Given the description of an element on the screen output the (x, y) to click on. 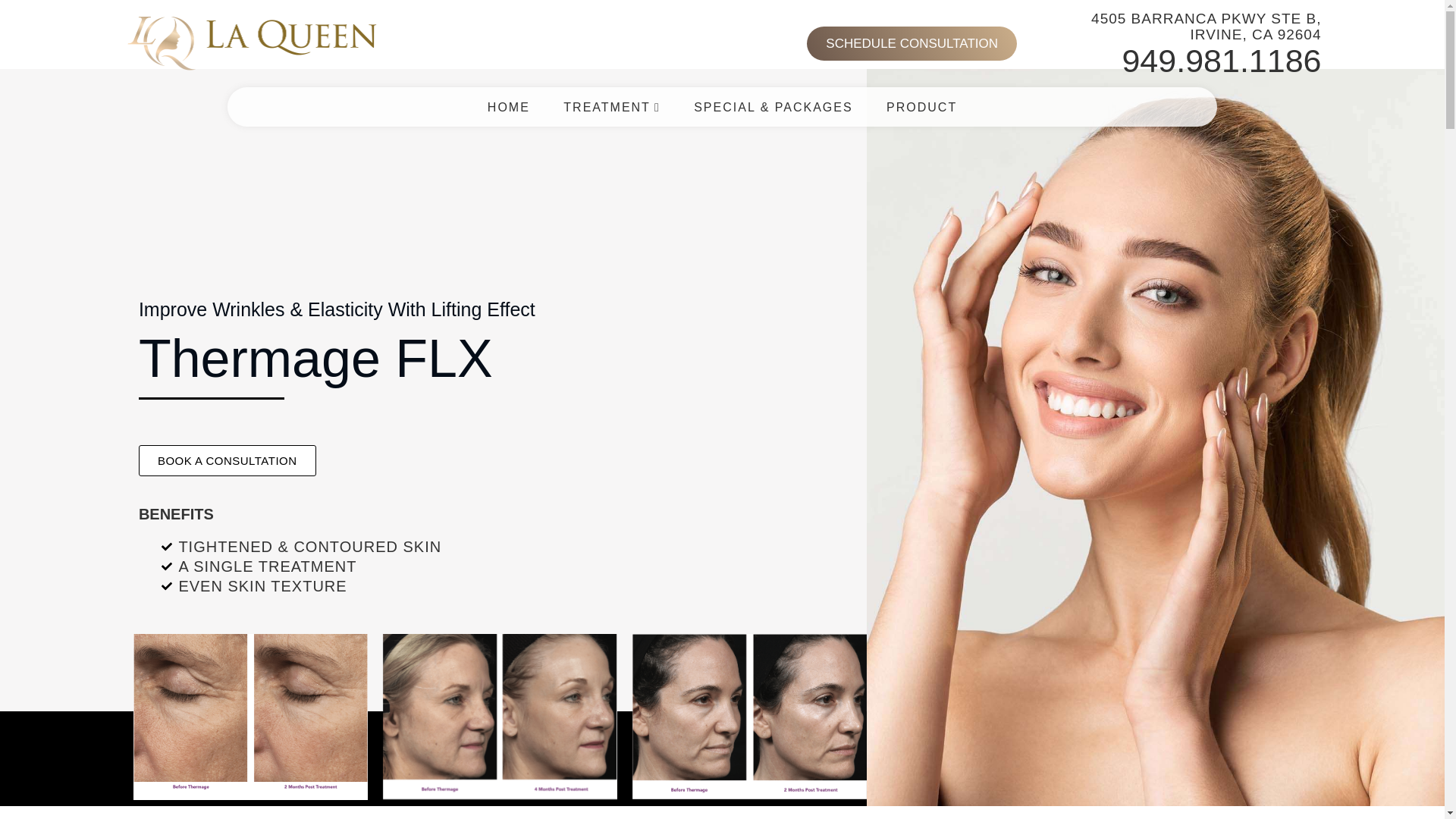
PRODUCT (921, 104)
949.981.1186 (1220, 60)
TREATMENT (611, 98)
SCHEDULE CONSULTATION (911, 43)
HOME (507, 95)
BOOK A CONSULTATION (226, 460)
